Given the description of an element on the screen output the (x, y) to click on. 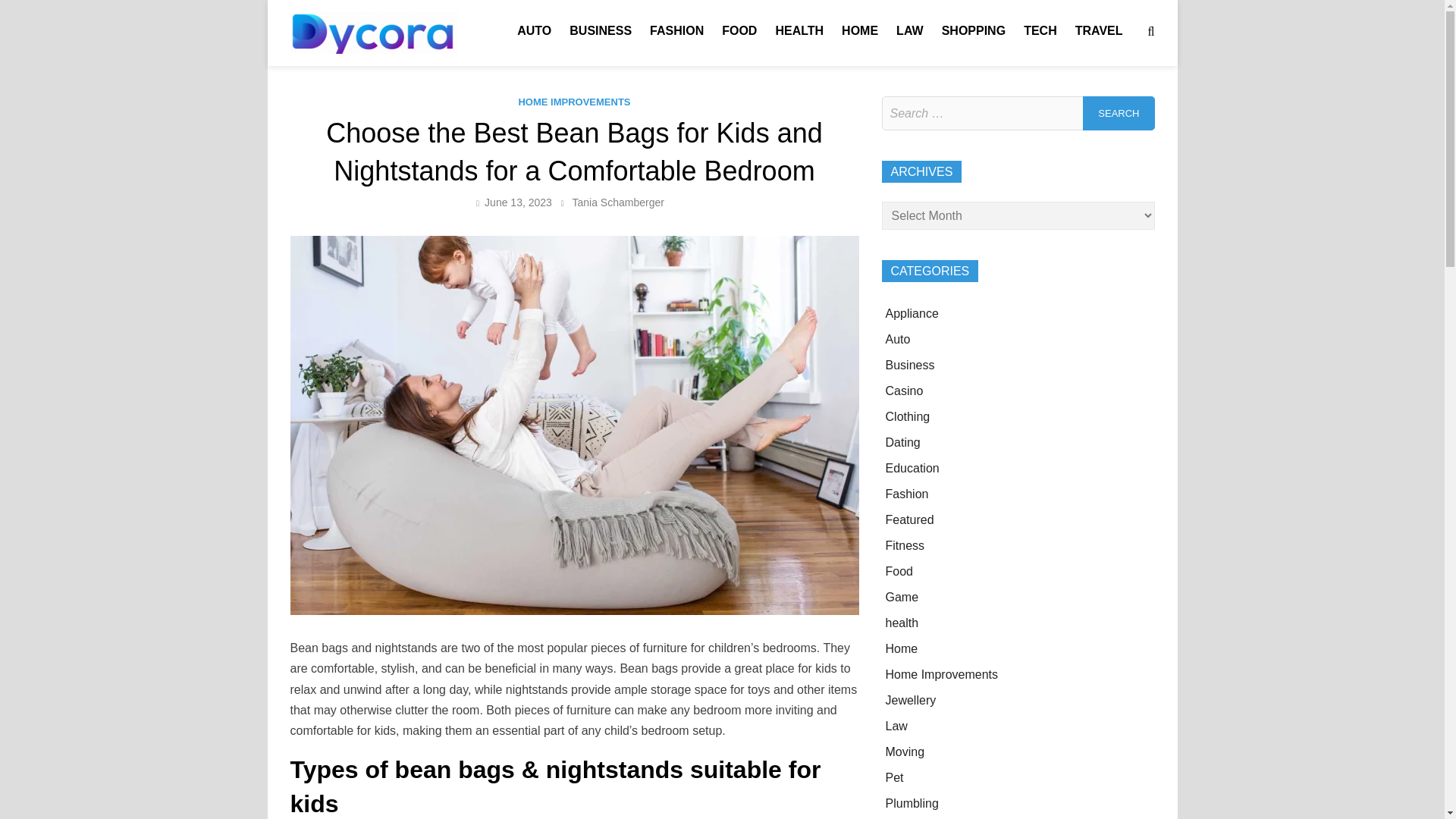
Education (912, 468)
Search (1118, 113)
Business (909, 364)
Search (1118, 113)
HOME IMPROVEMENTS (574, 101)
TRAVEL (1098, 30)
Appliance (912, 313)
Food (898, 571)
health (901, 622)
TECH (1039, 30)
